Given the description of an element on the screen output the (x, y) to click on. 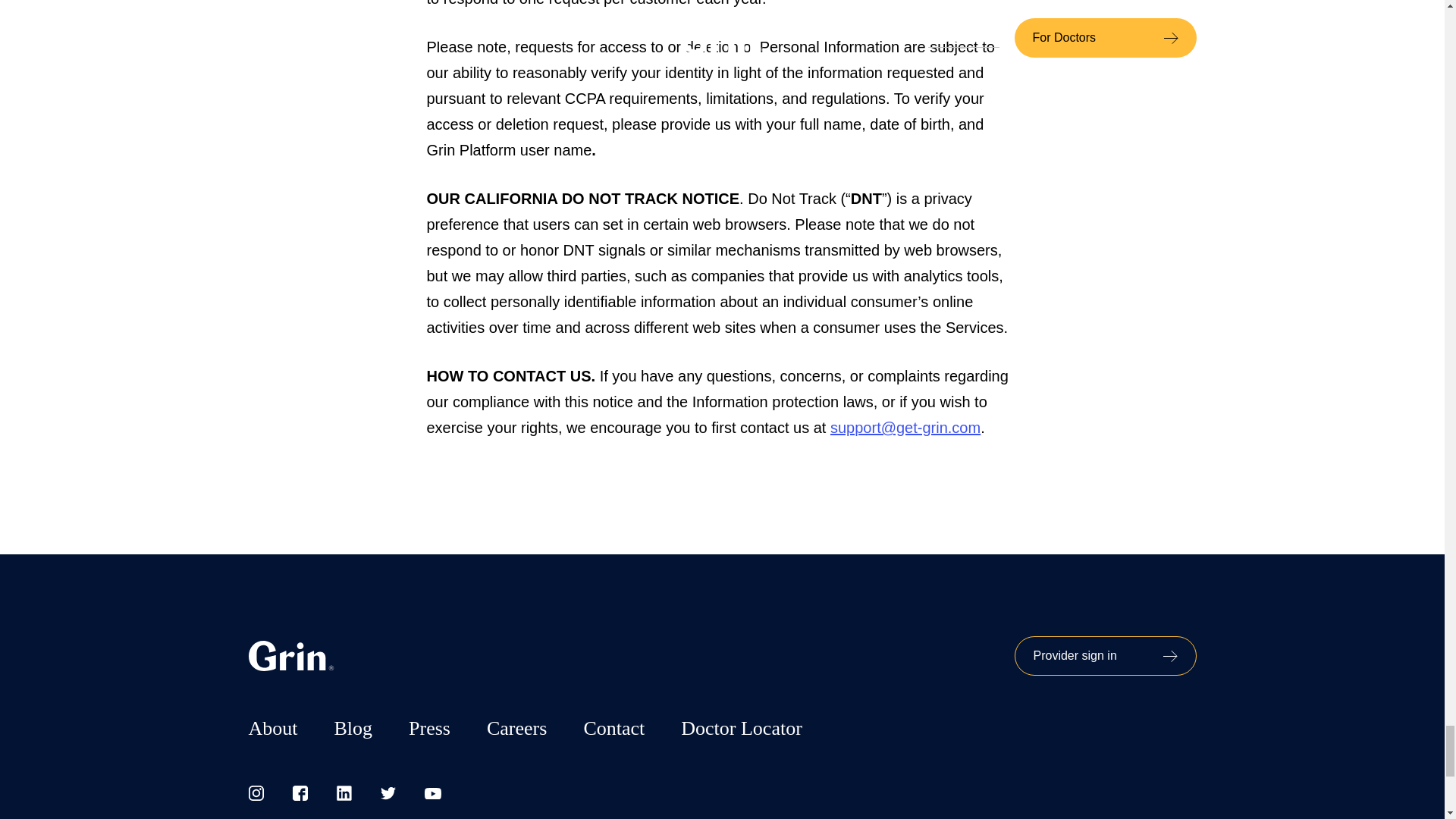
About (273, 727)
About (273, 728)
Provider sign in (1105, 655)
